Given the description of an element on the screen output the (x, y) to click on. 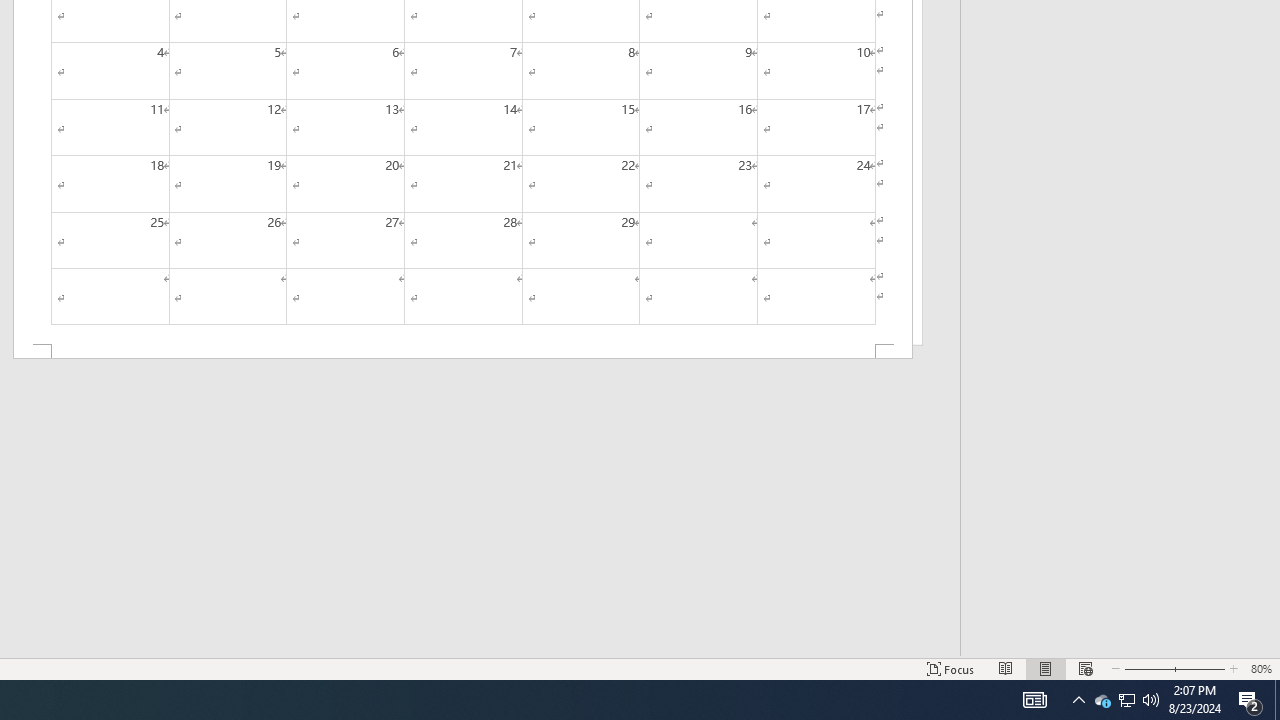
Footer -Section 2- (462, 351)
